Given the description of an element on the screen output the (x, y) to click on. 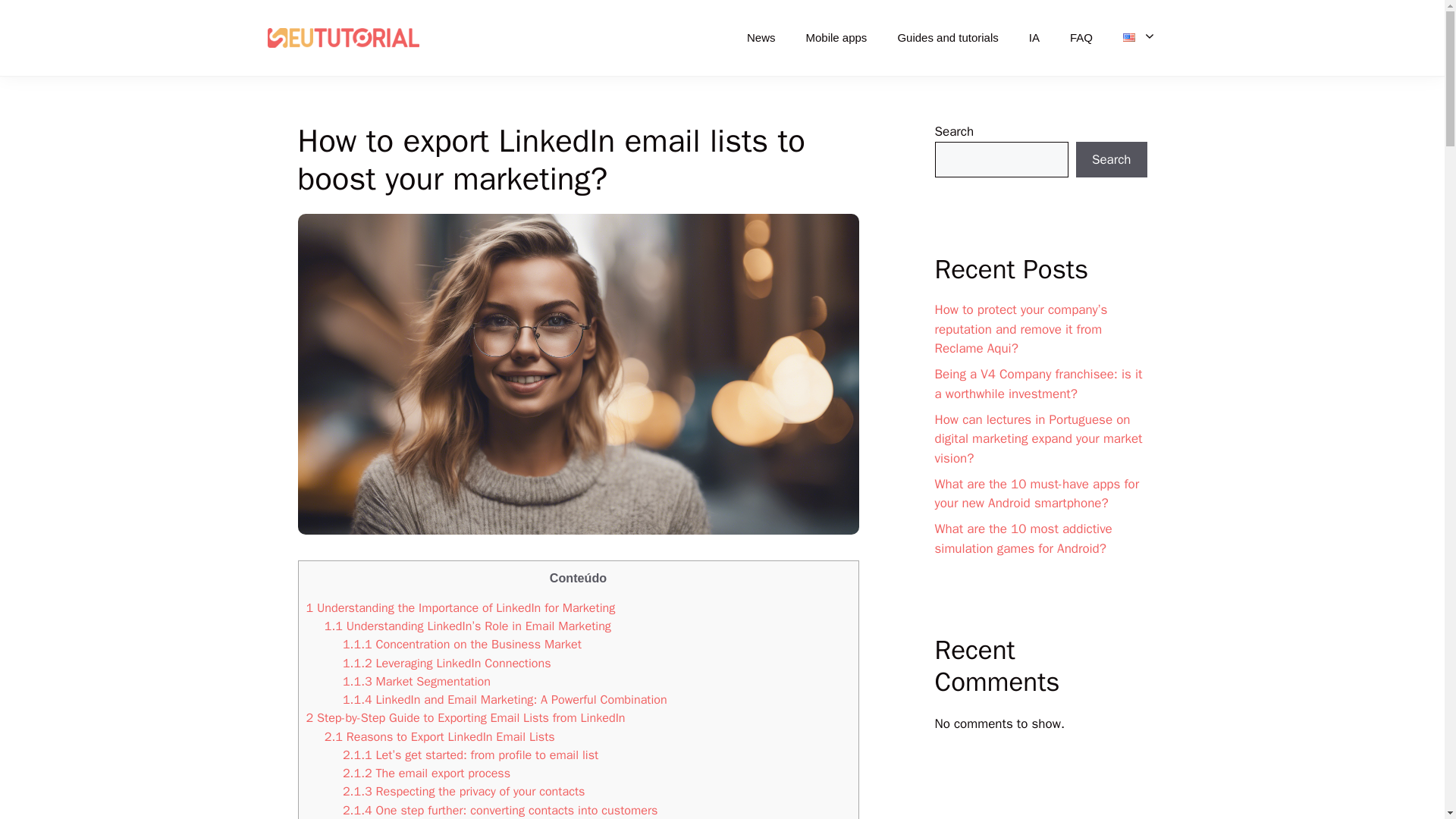
FAQ (1081, 37)
1.1.4 LinkedIn and Email Marketing: A Powerful Combination (504, 699)
2.1.3 Respecting the privacy of your contacts (463, 790)
2.1.4 One step further: converting contacts into customers (500, 810)
IA (1033, 37)
2.1 Reasons to Export LinkedIn Email Lists (439, 736)
1.1.2 Leveraging LinkedIn Connections (446, 662)
1 Understanding the Importance of LinkedIn for Marketing (460, 607)
1.1.1 Concentration on the Business Market (461, 643)
Guides and tutorials (947, 37)
